Given the description of an element on the screen output the (x, y) to click on. 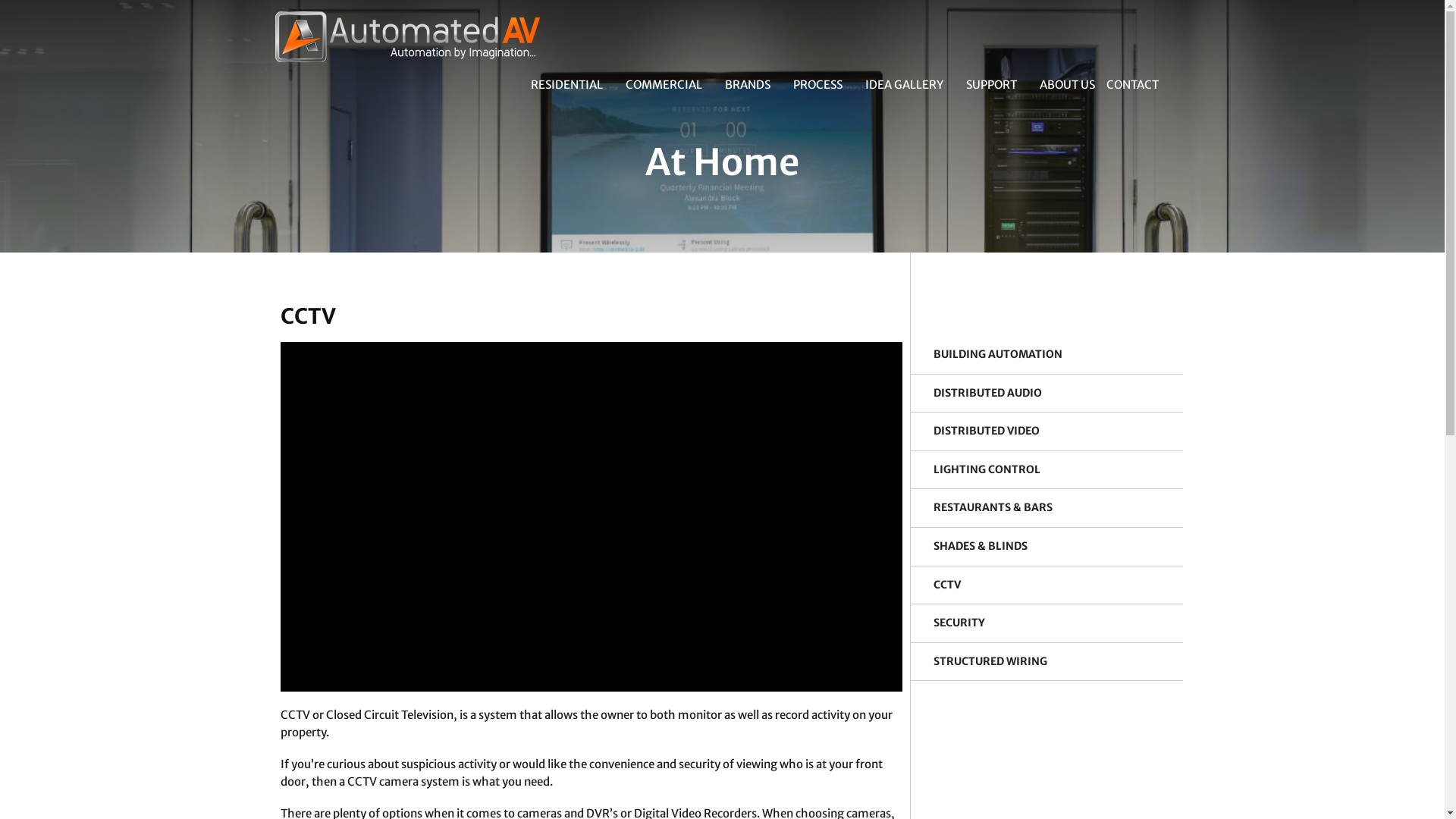
PROCESS Element type: text (817, 84)
LIGHTING CONTROL Element type: text (986, 469)
DISTRIBUTED VIDEO Element type: text (986, 430)
RESTAURANTS & BARS Element type: text (992, 507)
STRUCTURED WIRING Element type: text (990, 661)
DISTRIBUTED AUDIO Element type: text (987, 392)
BUILDING AUTOMATION Element type: text (997, 353)
SECURITY Element type: text (959, 622)
CONTACT Element type: text (1132, 84)
RESIDENTIAL Element type: text (565, 84)
SUPPORT Element type: text (990, 84)
SHADES & BLINDS Element type: text (980, 545)
IDEA GALLERY Element type: text (903, 84)
BRANDS Element type: text (746, 84)
CCTV Element type: text (946, 584)
COMMERCIAL Element type: text (663, 84)
ABOUT US Element type: text (1061, 84)
